Given the description of an element on the screen output the (x, y) to click on. 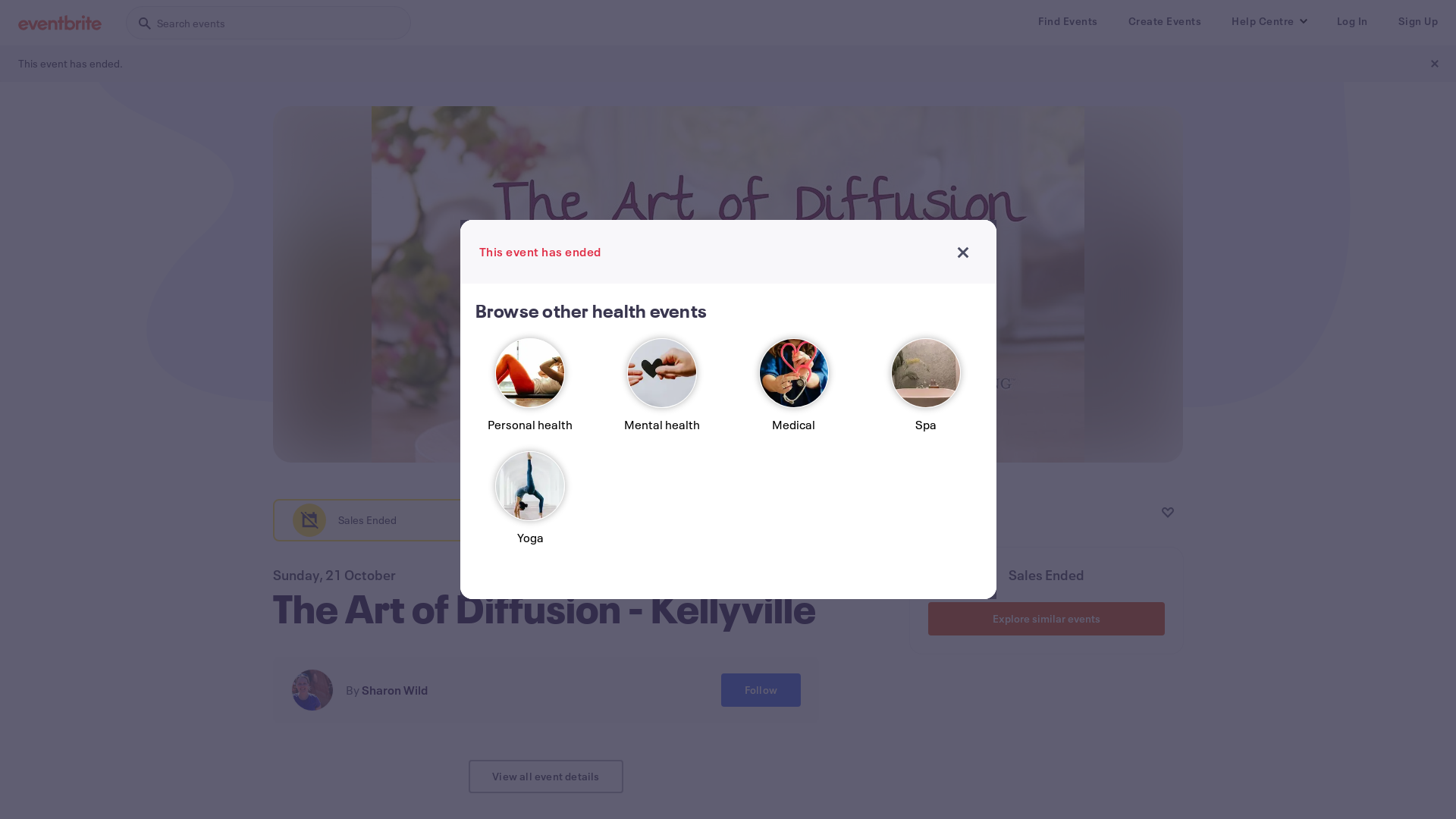
Search events Element type: text (268, 22)
Medical Element type: text (793, 391)
View all event details Element type: text (545, 776)
Yoga Element type: text (530, 504)
Personal health Element type: text (530, 391)
Sign Up Element type: text (1418, 21)
Find Events Element type: text (1068, 21)
Explore similar events Element type: text (1046, 618)
Spa Element type: text (925, 391)
Eventbrite Element type: hover (59, 22)
Mental health Element type: text (661, 391)
Create Events Element type: text (1165, 21)
Follow Element type: text (760, 689)
Log In Element type: text (1351, 21)
